Given the description of an element on the screen output the (x, y) to click on. 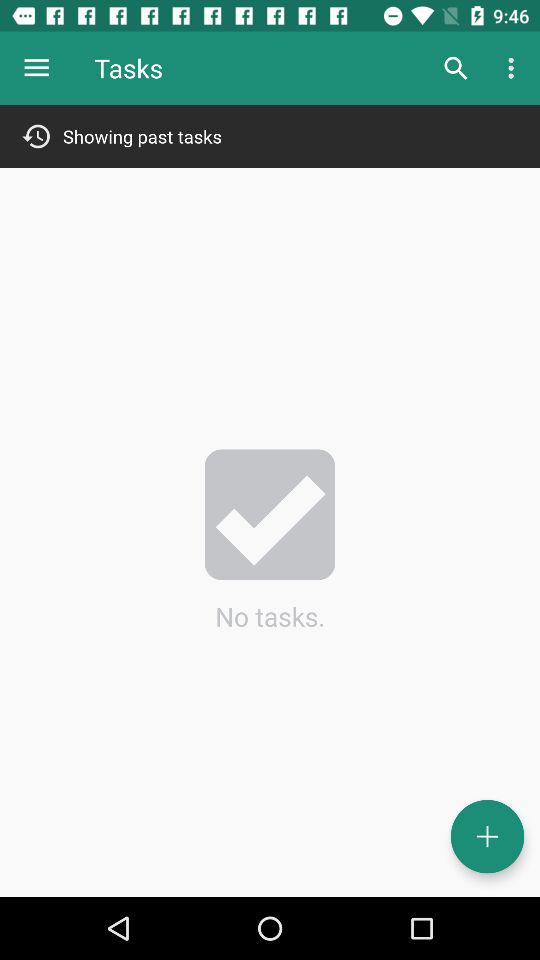
turn off the icon below the no tasks. icon (487, 836)
